Given the description of an element on the screen output the (x, y) to click on. 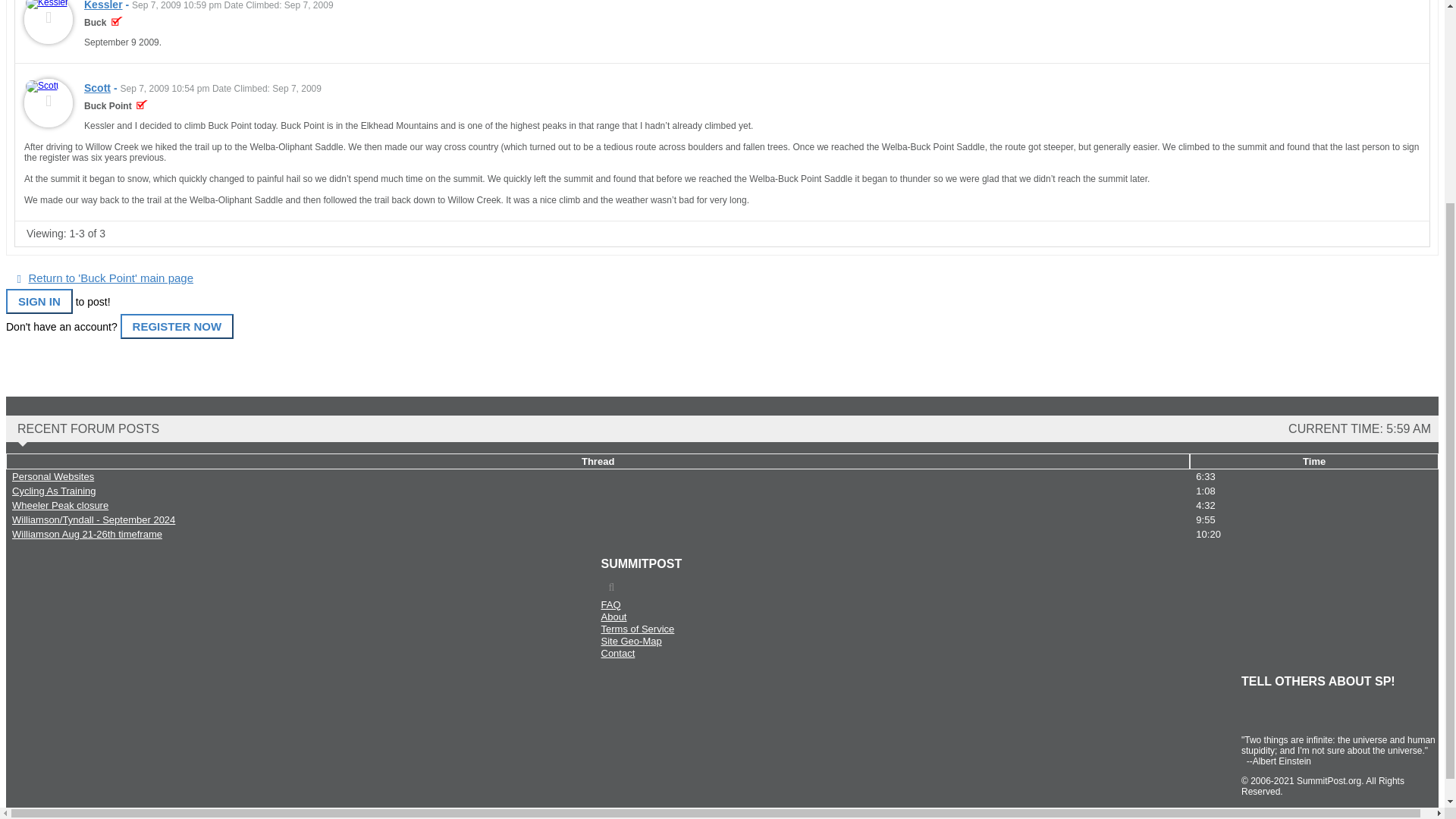
Success! (142, 105)
Scott (97, 87)
Success! (117, 22)
REGISTER NOW (177, 326)
SIGN IN (38, 301)
Kessler (103, 5)
